Given the description of an element on the screen output the (x, y) to click on. 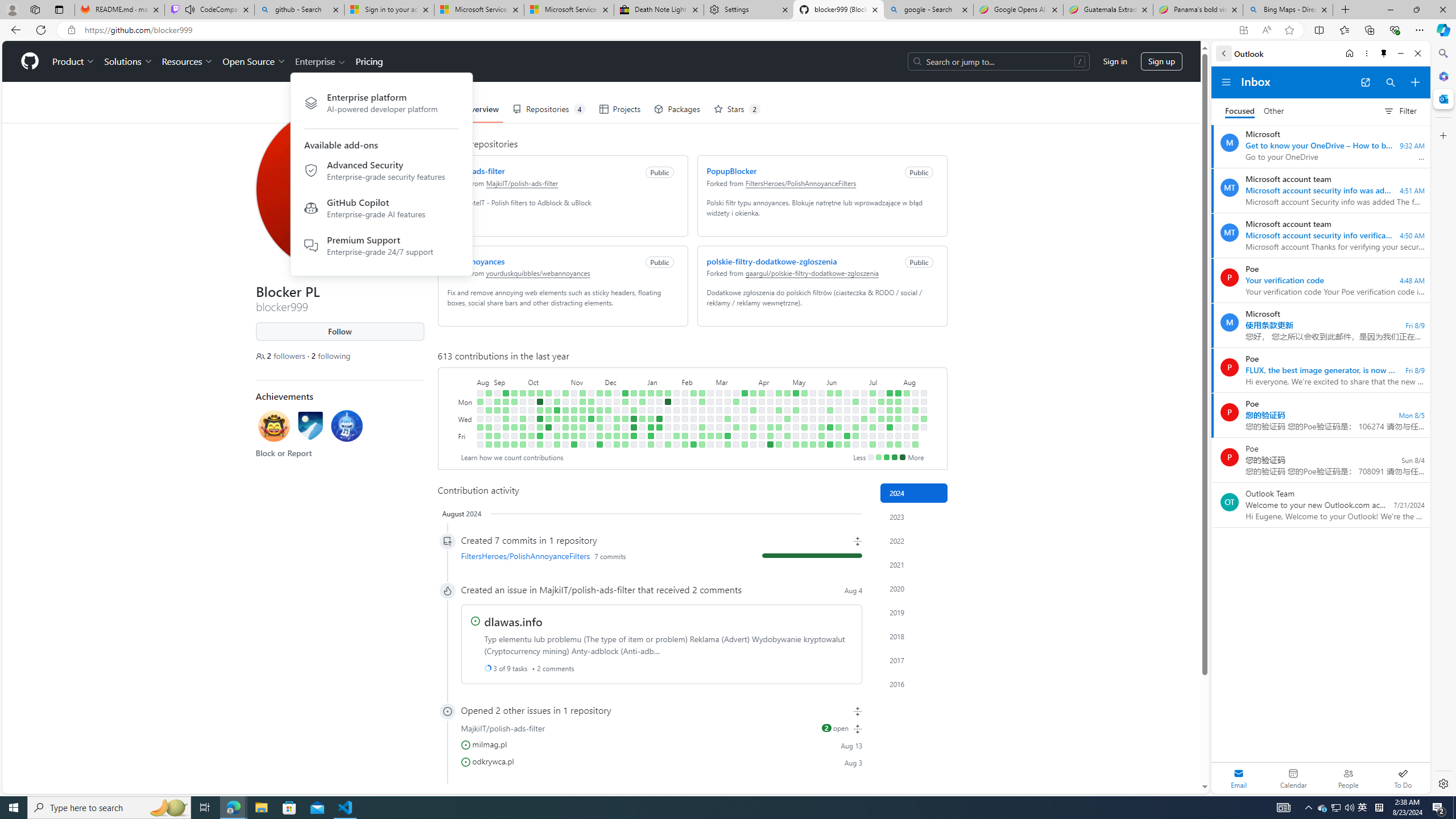
1 contribution on October 6th. (530, 435)
No contributions on December 9th. (607, 444)
3 contributions on March 13th. (726, 418)
No contributions on May 24th. (812, 435)
1 contribution on July 27th. (889, 444)
1 contribution on July 30th. (897, 410)
13 contributions on December 28th. (633, 427)
@blocker999 (263, 54)
1 contribution on October 29th. (565, 392)
No contributions on January 30th. (675, 410)
No contributions on June 29th. (855, 444)
No contributions on December 25th. (633, 401)
No contributions on April 13th. (761, 444)
